Given the description of an element on the screen output the (x, y) to click on. 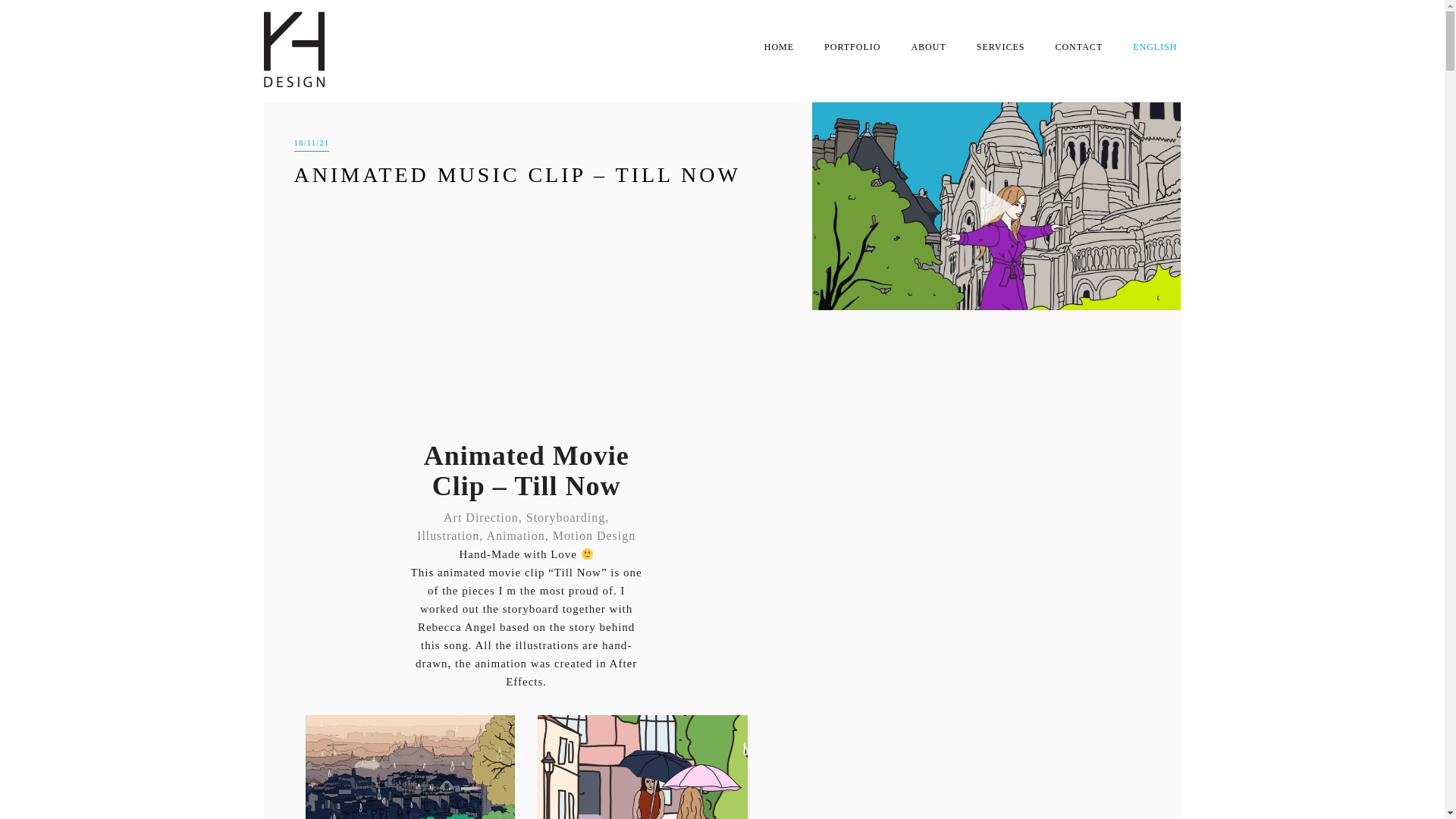
HOME (779, 46)
CONTACT (1078, 46)
YouTube video player (526, 307)
SERVICES (1000, 46)
ABOUT (927, 46)
ENGLISH (1155, 46)
English (1155, 46)
PORTFOLIO (852, 46)
